Given the description of an element on the screen output the (x, y) to click on. 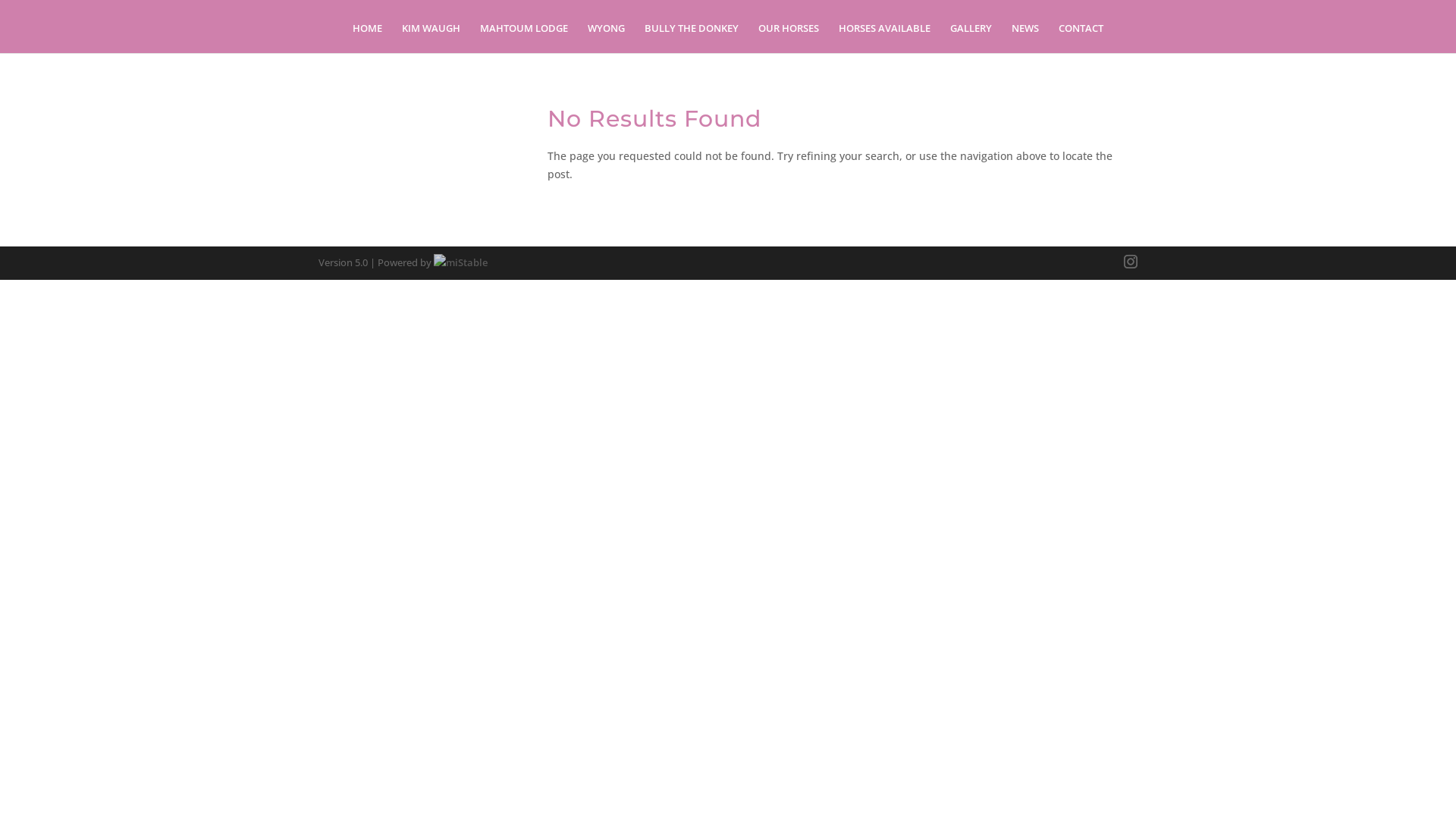
Horse Management Software Element type: hover (460, 262)
BULLY THE DONKEY Element type: text (691, 37)
OUR HORSES Element type: text (788, 37)
WYONG Element type: text (605, 37)
MAHTOUM LODGE Element type: text (523, 37)
CONTACT Element type: text (1080, 37)
NEWS Element type: text (1024, 37)
HORSES AVAILABLE Element type: text (884, 37)
HOME Element type: text (367, 37)
KIM WAUGH Element type: text (430, 37)
GALLERY Element type: text (970, 37)
